Given the description of an element on the screen output the (x, y) to click on. 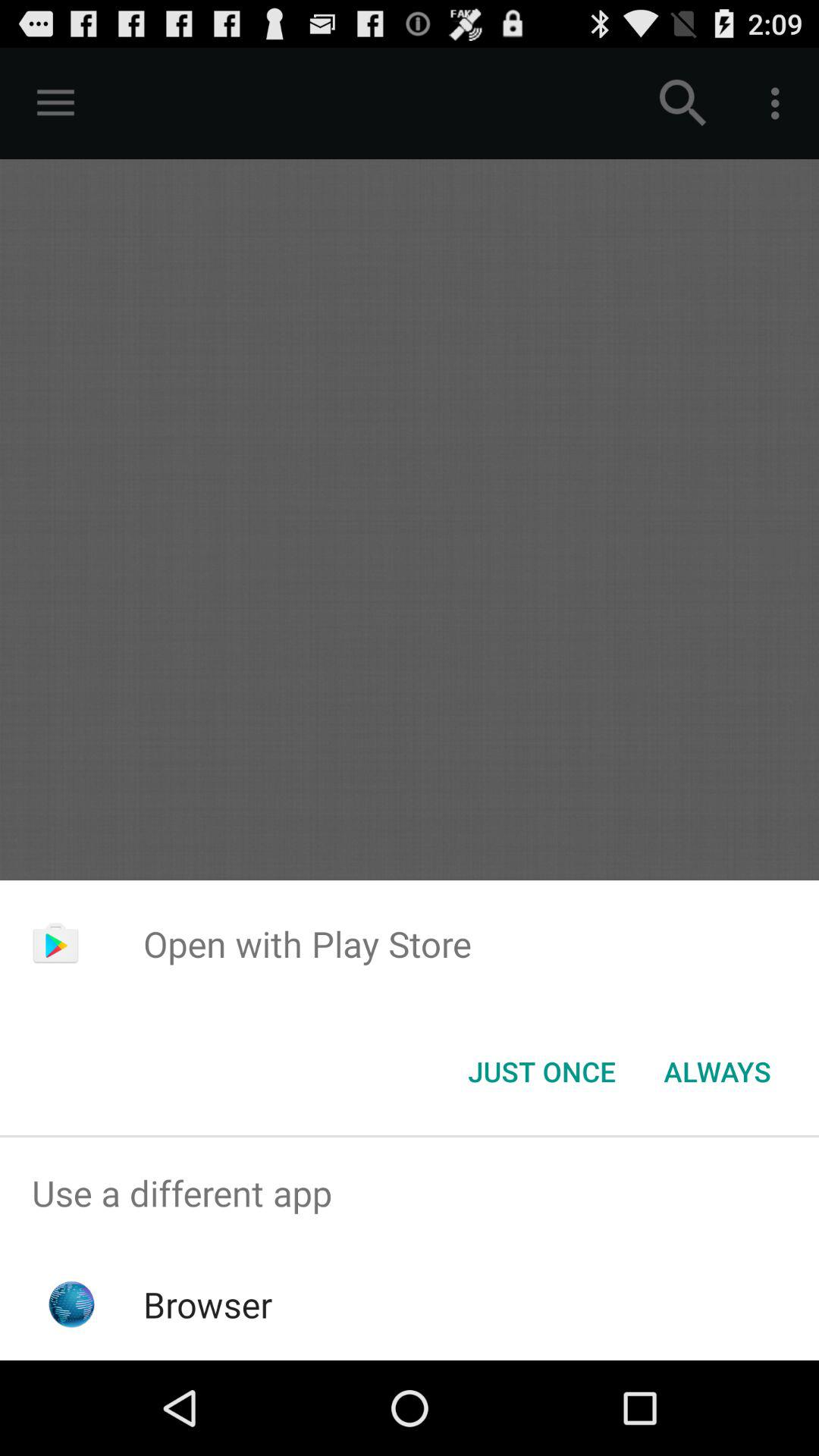
press the item next to the just once button (717, 1071)
